Given the description of an element on the screen output the (x, y) to click on. 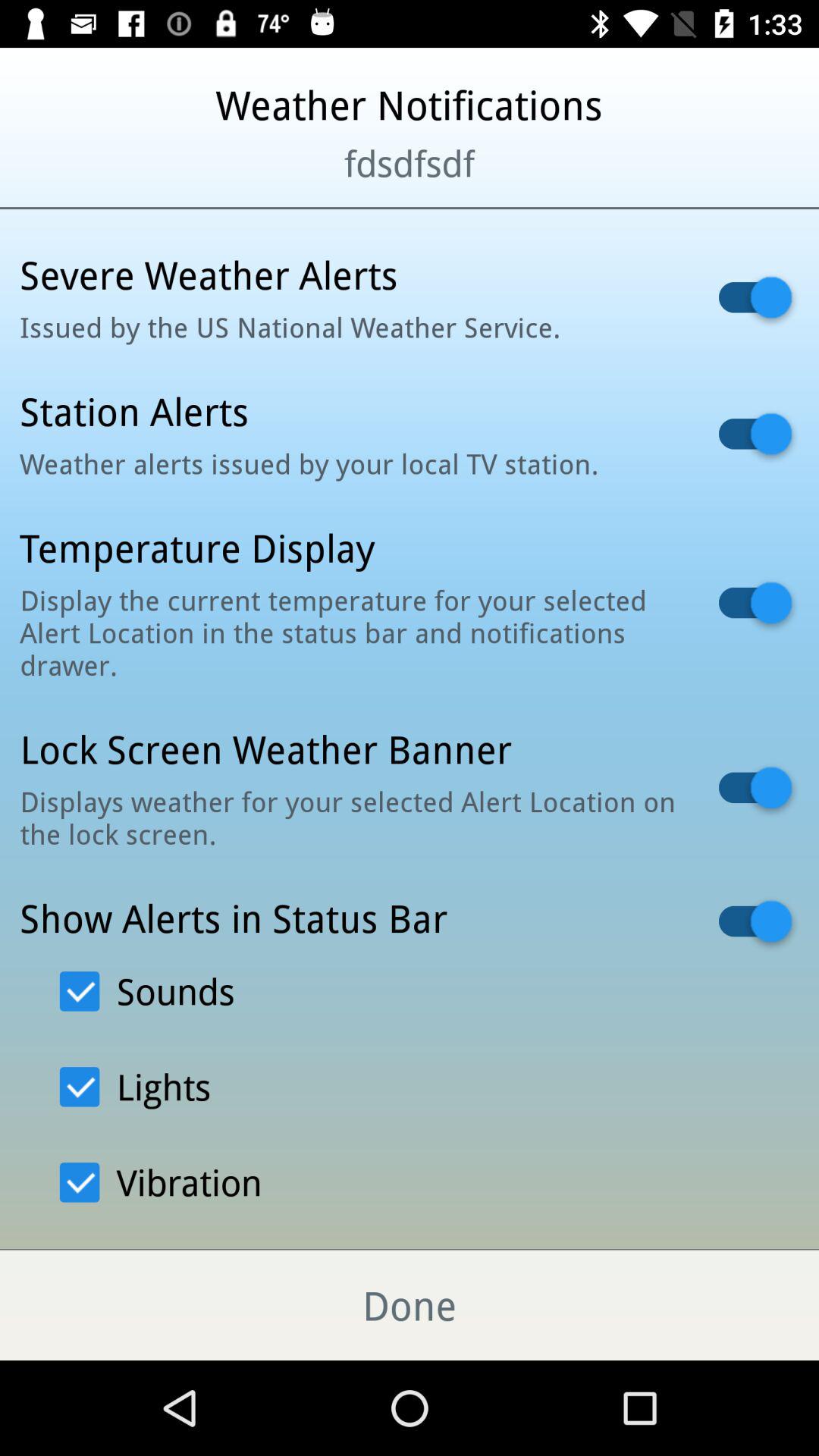
click icon next to the fdsdfsdf item (99, 182)
